Given the description of an element on the screen output the (x, y) to click on. 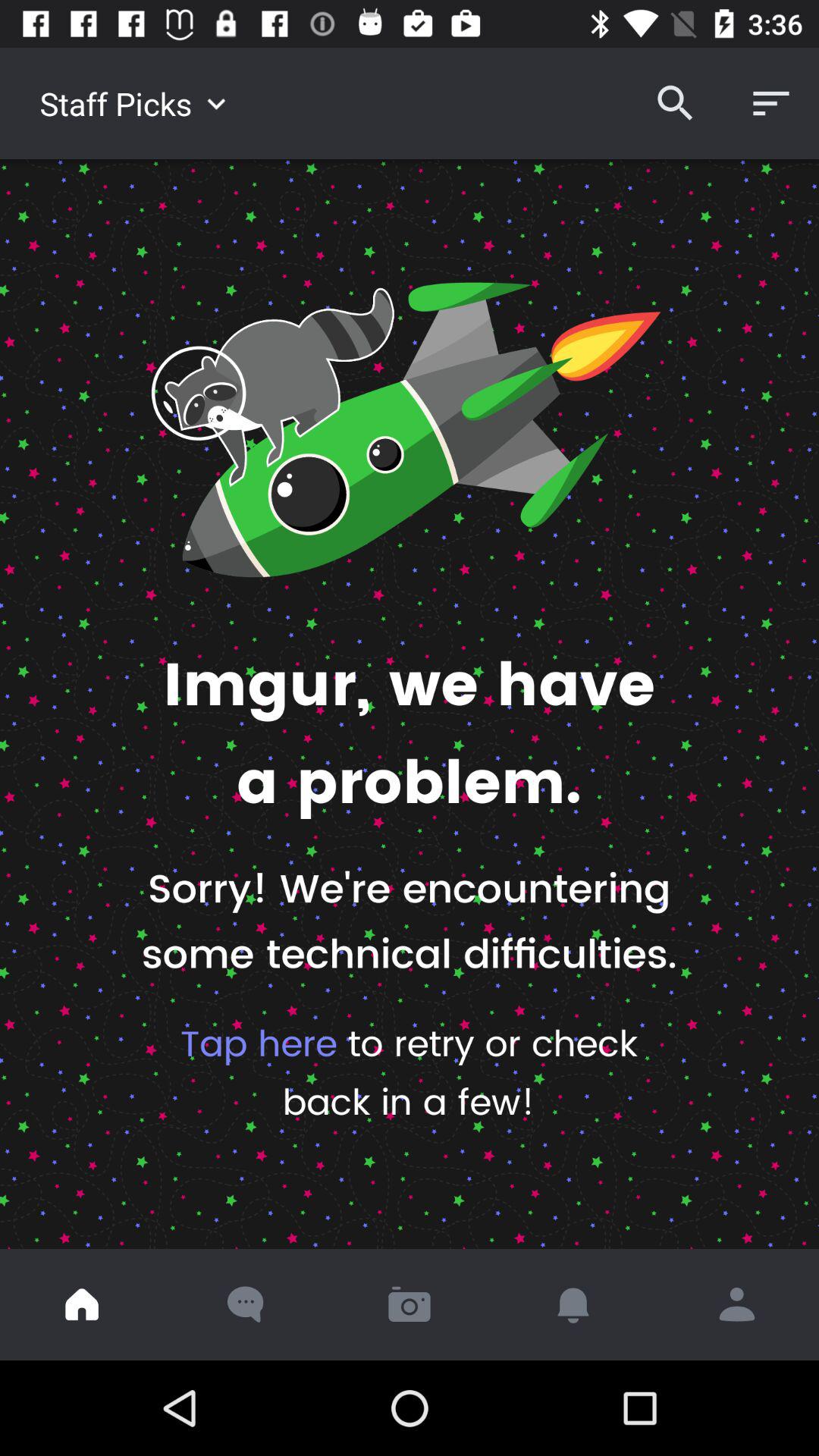
take a picture (409, 1304)
